Given the description of an element on the screen output the (x, y) to click on. 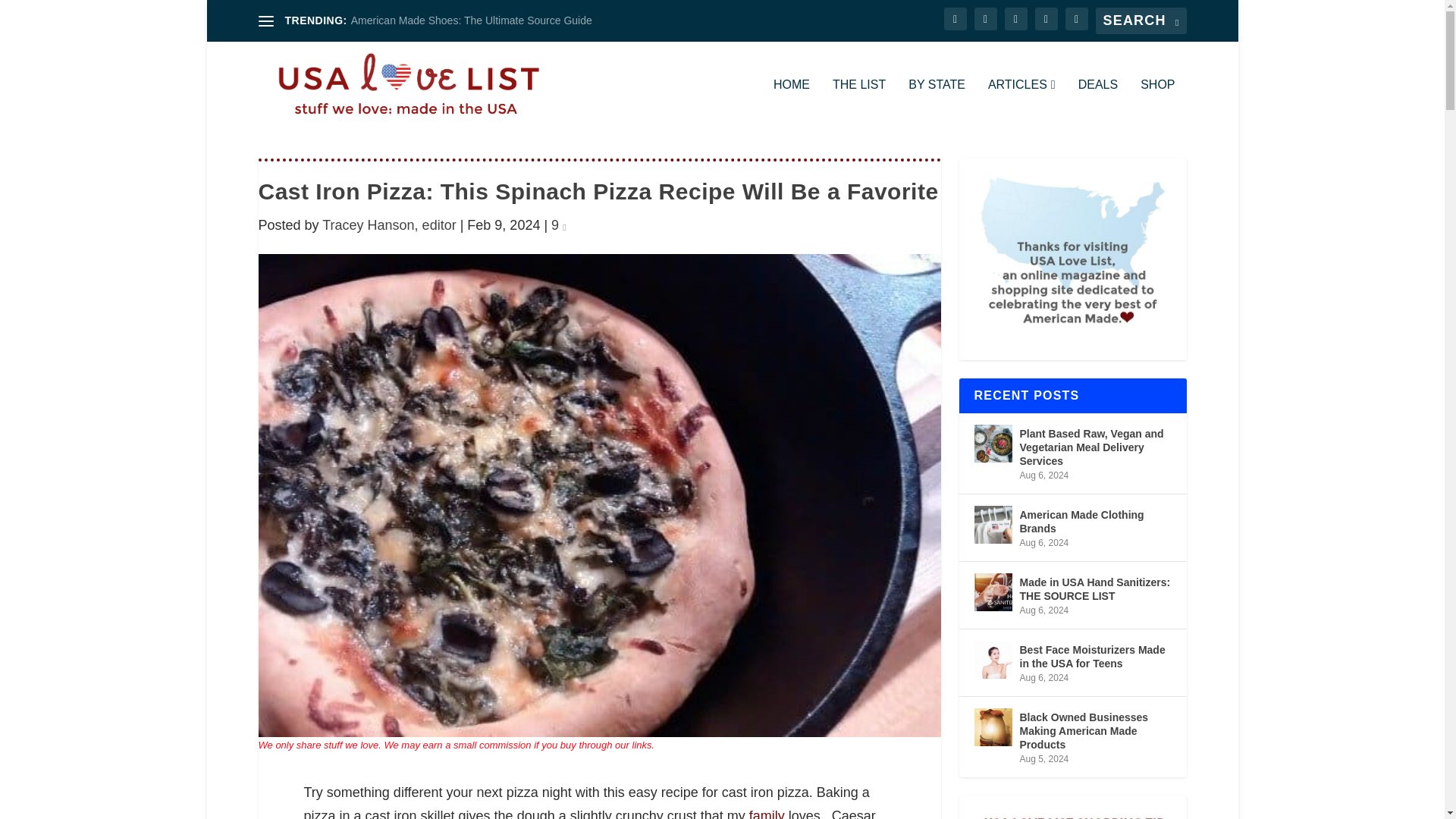
Tracey Hanson, editor (388, 224)
American Made Shoes: The Ultimate Source Guide (471, 20)
THE LIST (858, 102)
BY STATE (936, 102)
Family (766, 813)
9 (558, 224)
family (766, 813)
Posts by Tracey Hanson, editor (388, 224)
